Given the description of an element on the screen output the (x, y) to click on. 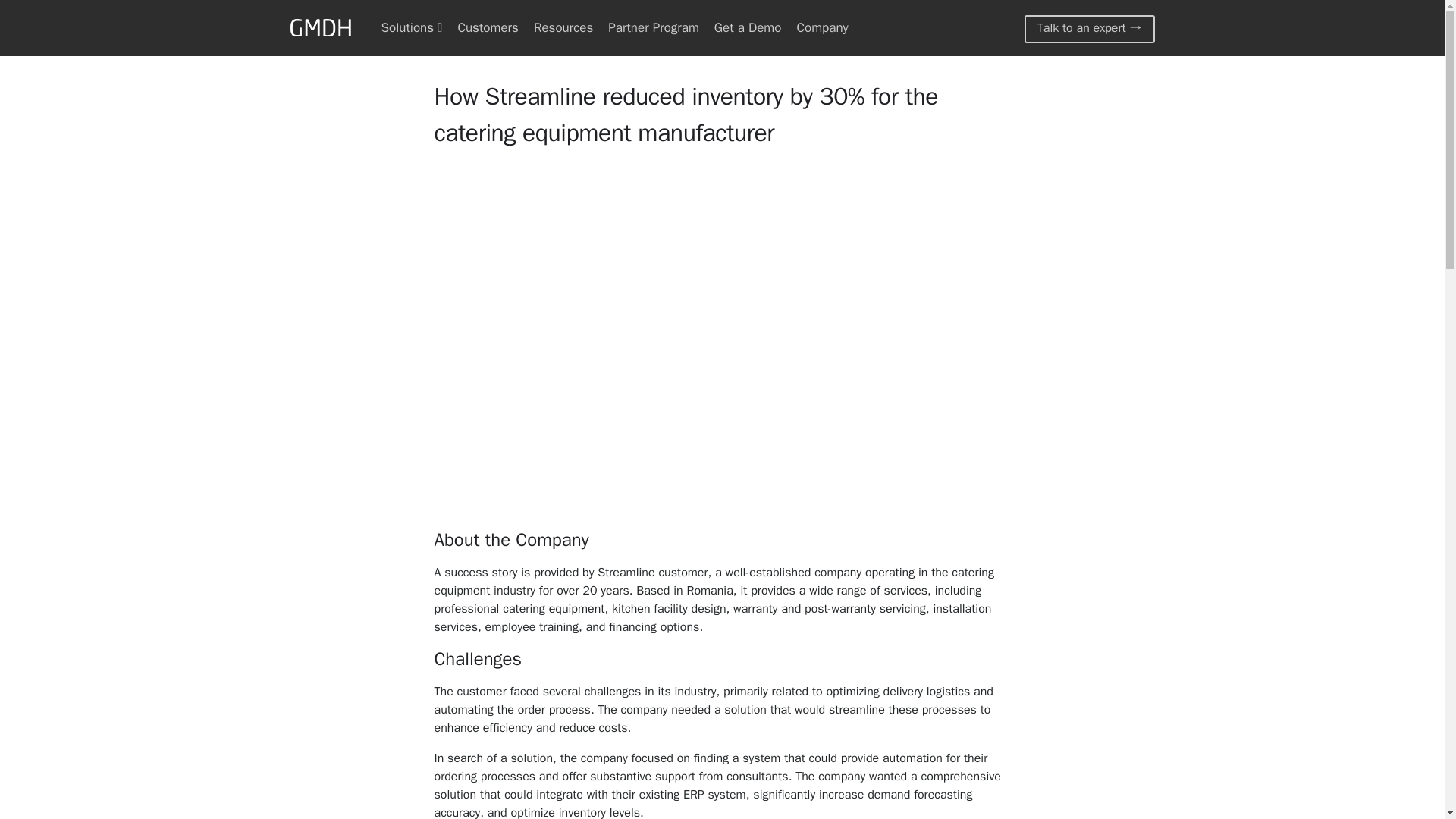
Customers (487, 27)
Resources (563, 27)
Solutions (411, 27)
Get a Demo (747, 27)
Partner Program (653, 27)
GMDH logo (319, 28)
Company (821, 27)
